Given the description of an element on the screen output the (x, y) to click on. 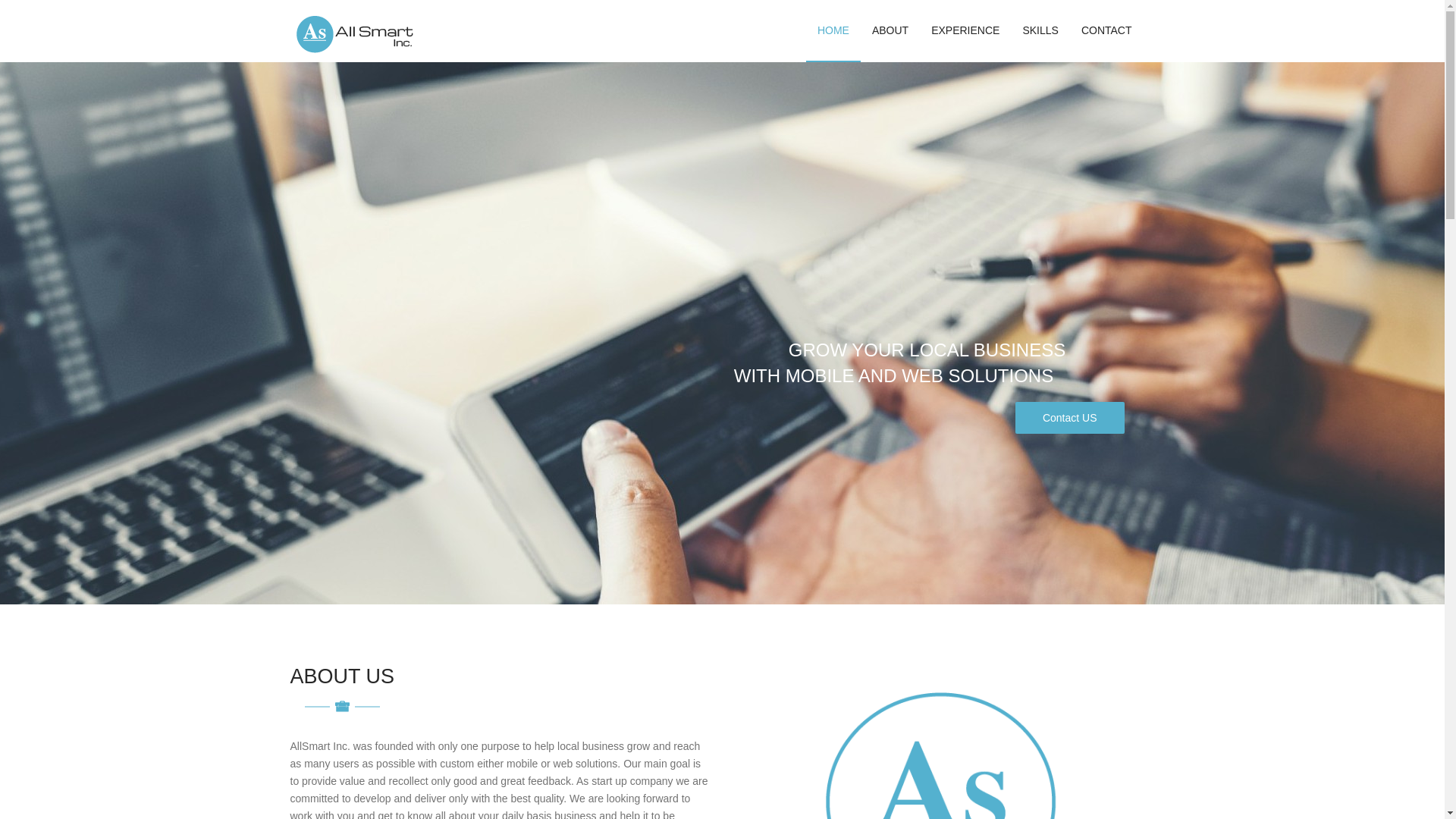
EXPERIENCE (965, 30)
ABOUT (890, 30)
Contact US (1069, 418)
CONTACT (1106, 30)
SKILLS (1039, 30)
